Given the description of an element on the screen output the (x, y) to click on. 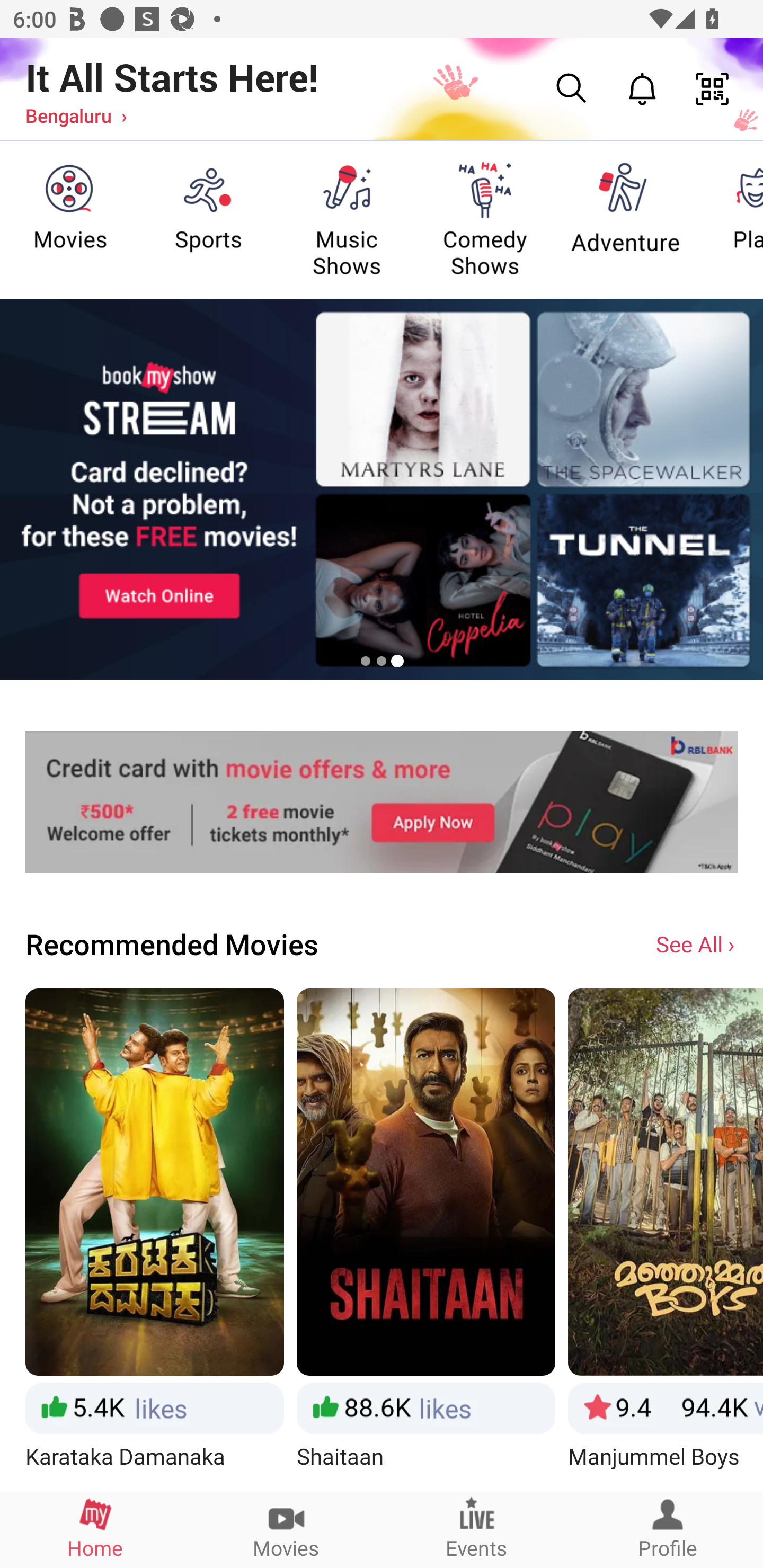
Bengaluru  › (76, 114)
See All › (696, 943)
Karataka Damanaka (154, 1239)
Shaitaan (425, 1239)
Manjummel Boys (665, 1239)
Home (95, 1529)
Movies (285, 1529)
Events (476, 1529)
Profile (667, 1529)
